Given the description of an element on the screen output the (x, y) to click on. 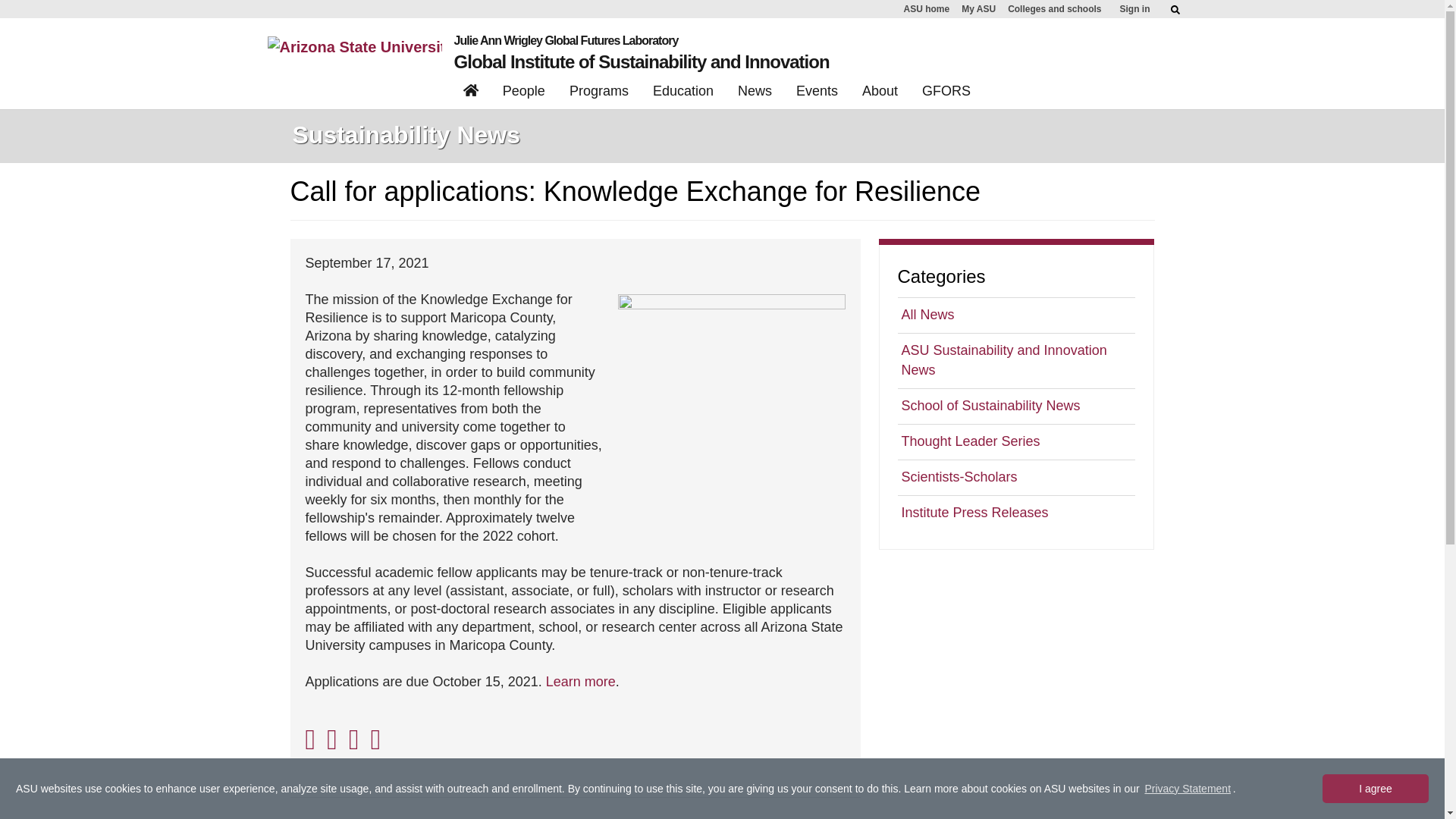
Scientists-Scholars (1016, 477)
News (754, 93)
Home (470, 92)
Events (817, 93)
Sign in (1134, 9)
My ASU (978, 9)
Global Institute of Sustainability and Innovation (641, 61)
Learn more (580, 681)
I agree (1375, 788)
